Given the description of an element on the screen output the (x, y) to click on. 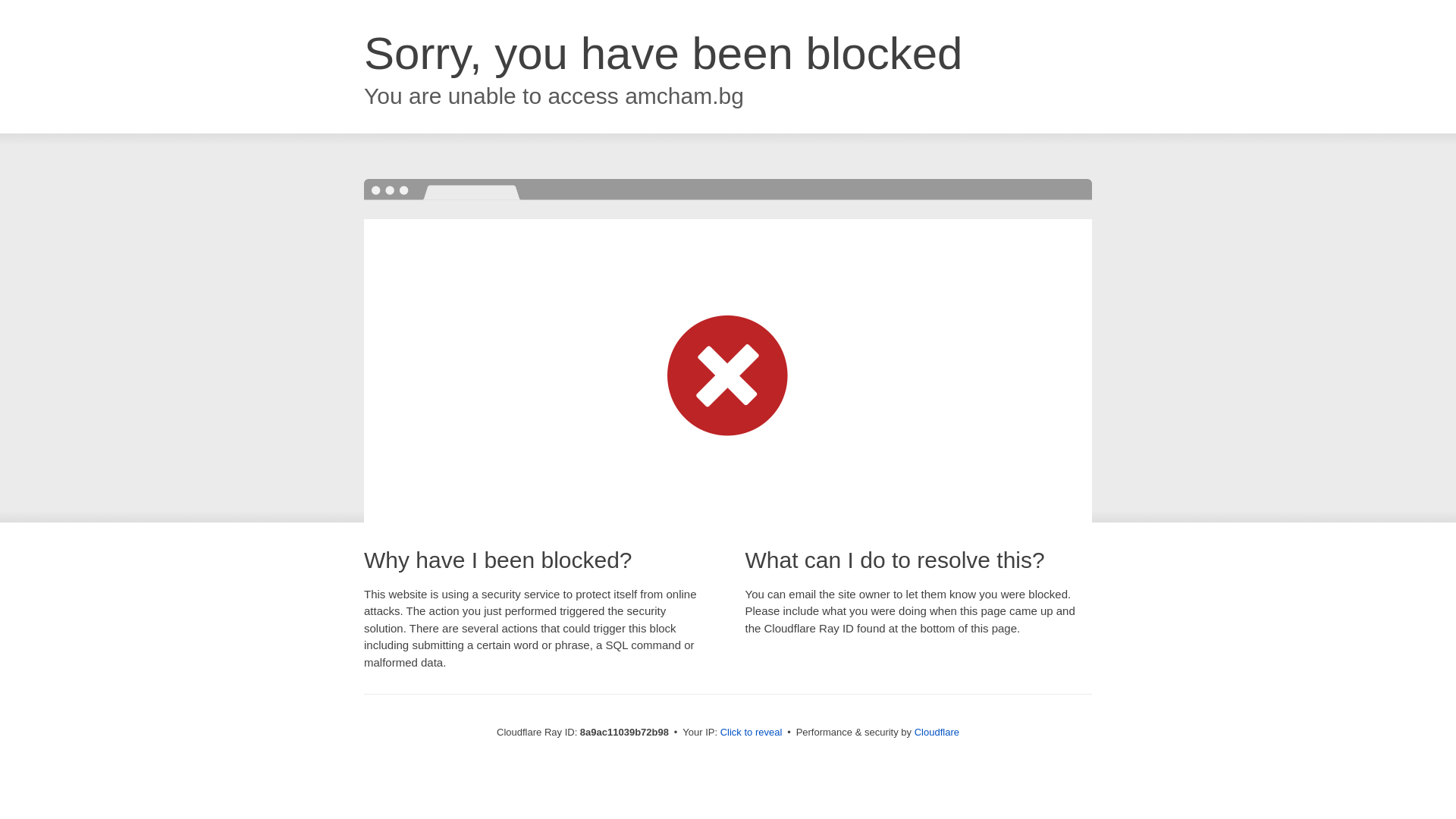
Click to reveal (751, 732)
Cloudflare (936, 731)
